Given the description of an element on the screen output the (x, y) to click on. 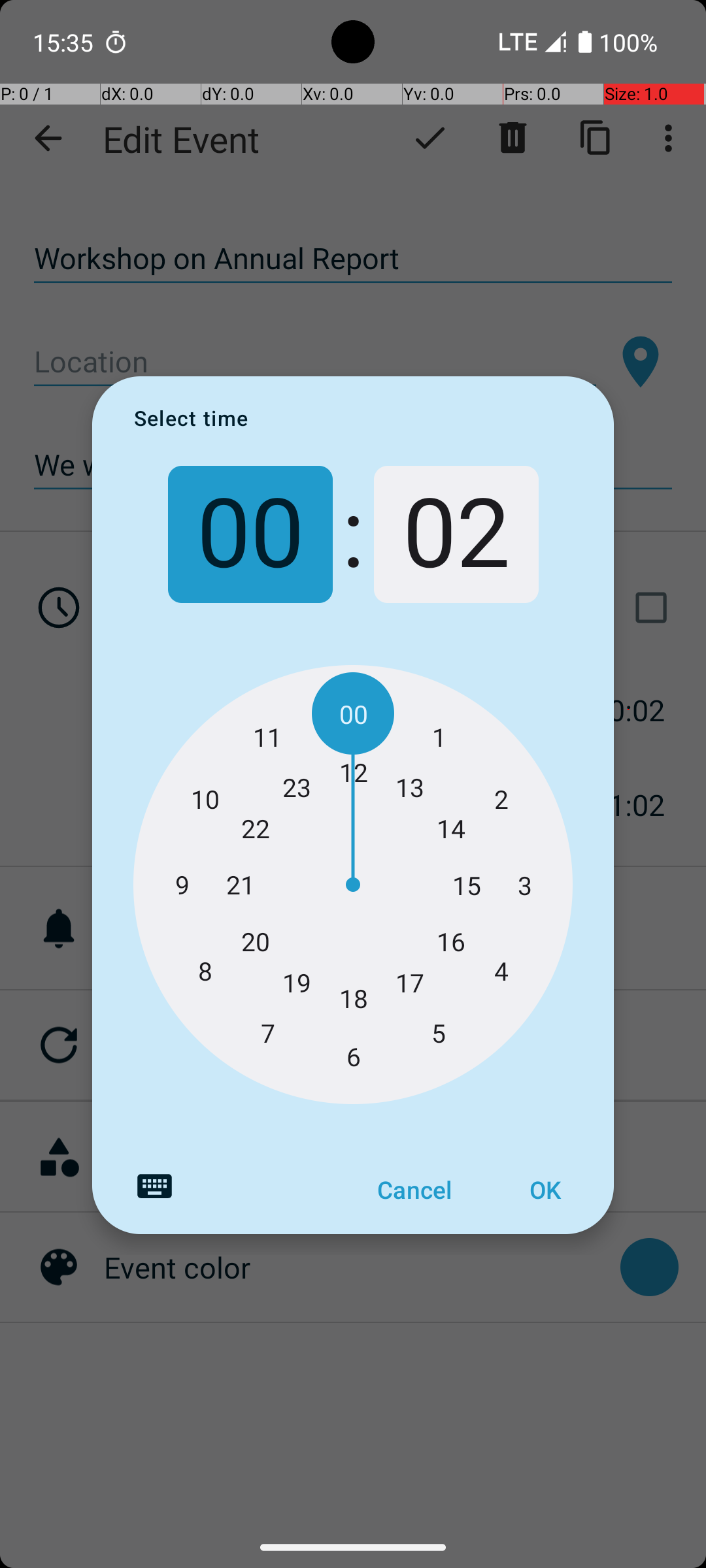
02 Element type: android.view.View (455, 534)
